Given the description of an element on the screen output the (x, y) to click on. 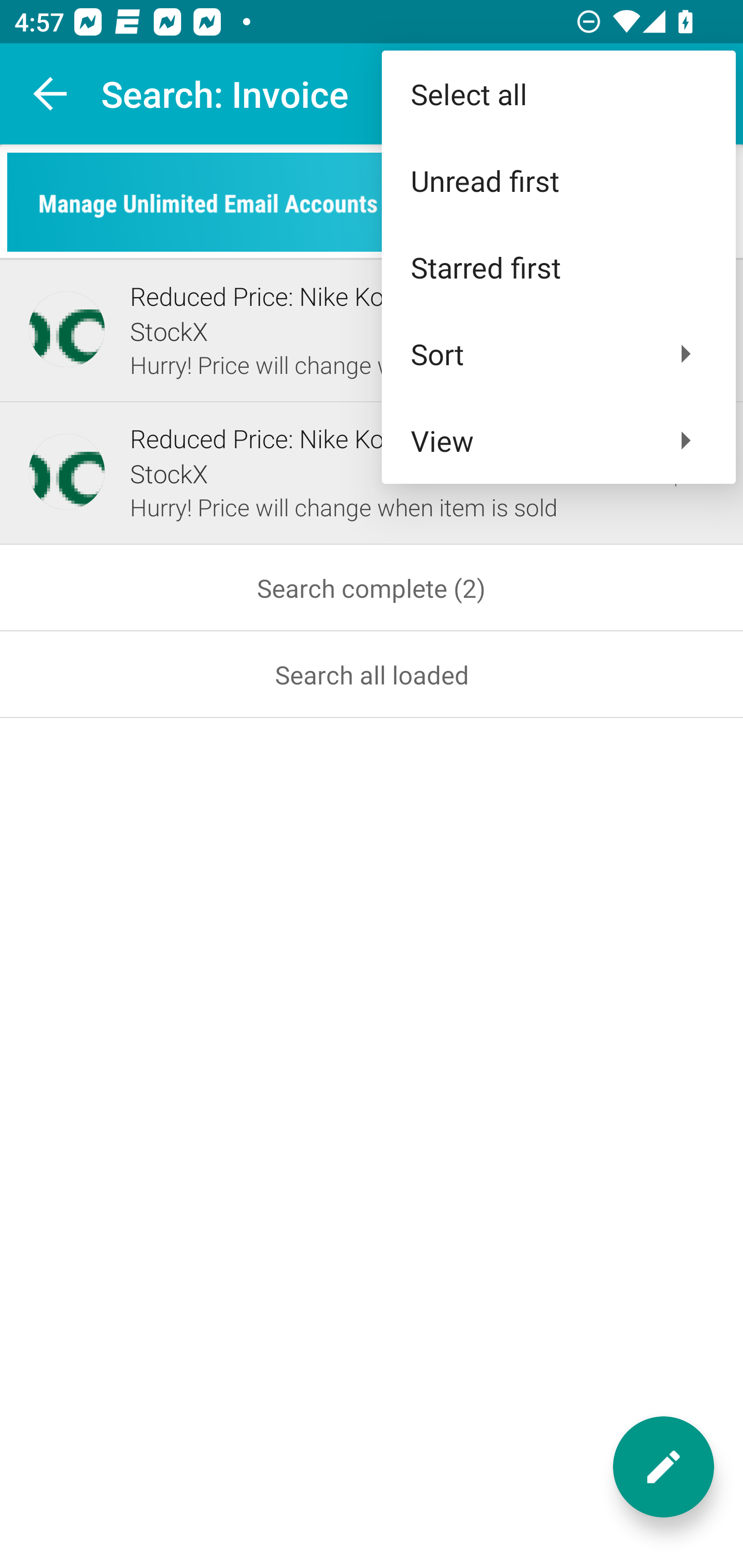
Select all (558, 93)
Unread first (558, 180)
Starred first (558, 267)
Sort (558, 353)
View (558, 440)
